Given the description of an element on the screen output the (x, y) to click on. 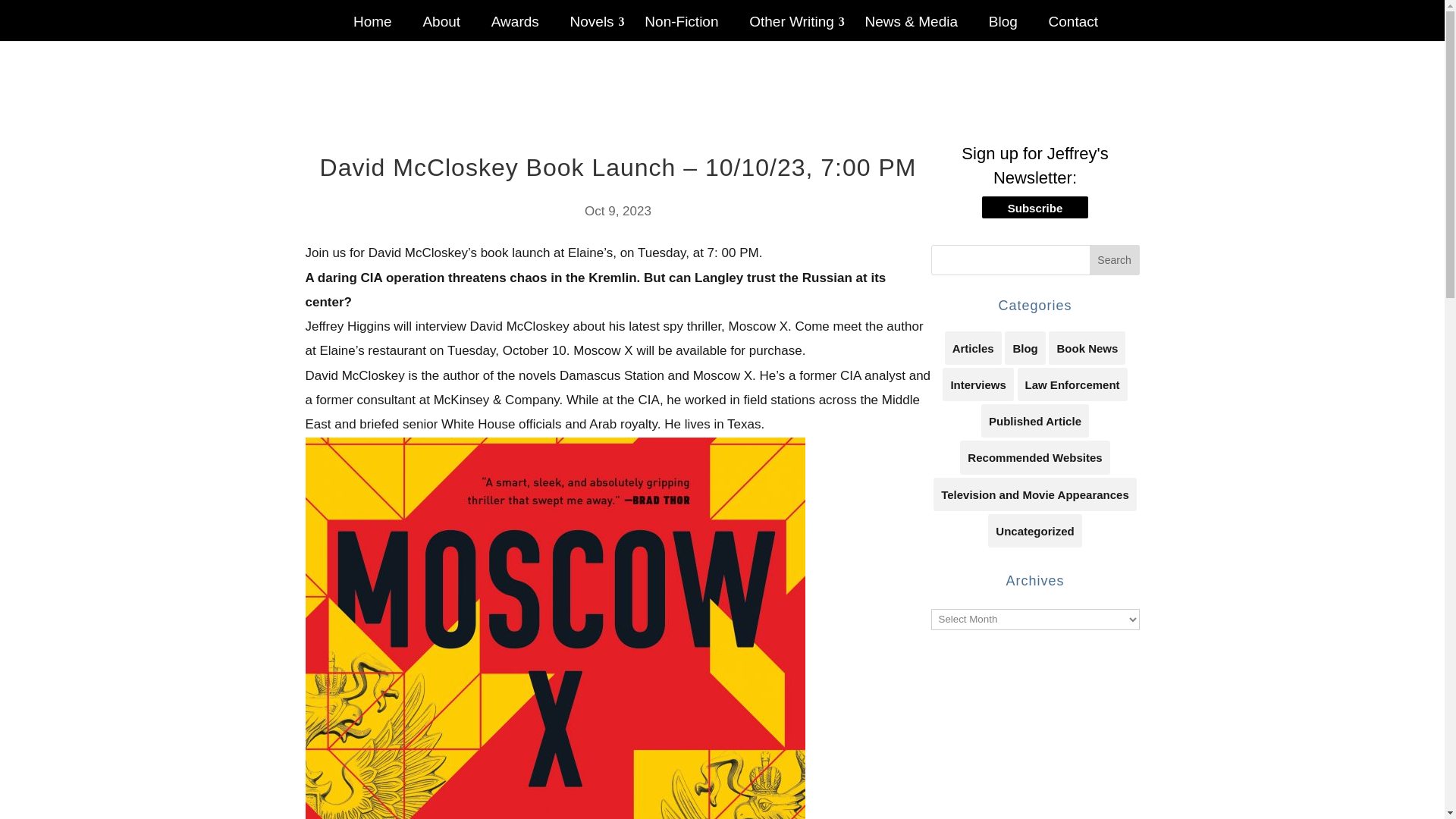
Search (1114, 259)
Home (372, 28)
Novels (592, 28)
Contact (1073, 28)
Articles (972, 347)
Uncategorized (1034, 530)
Television and Movie Appearances (1035, 494)
Interviews (977, 384)
Blog (1024, 347)
Law Enforcement (1071, 384)
